Given the description of an element on the screen output the (x, y) to click on. 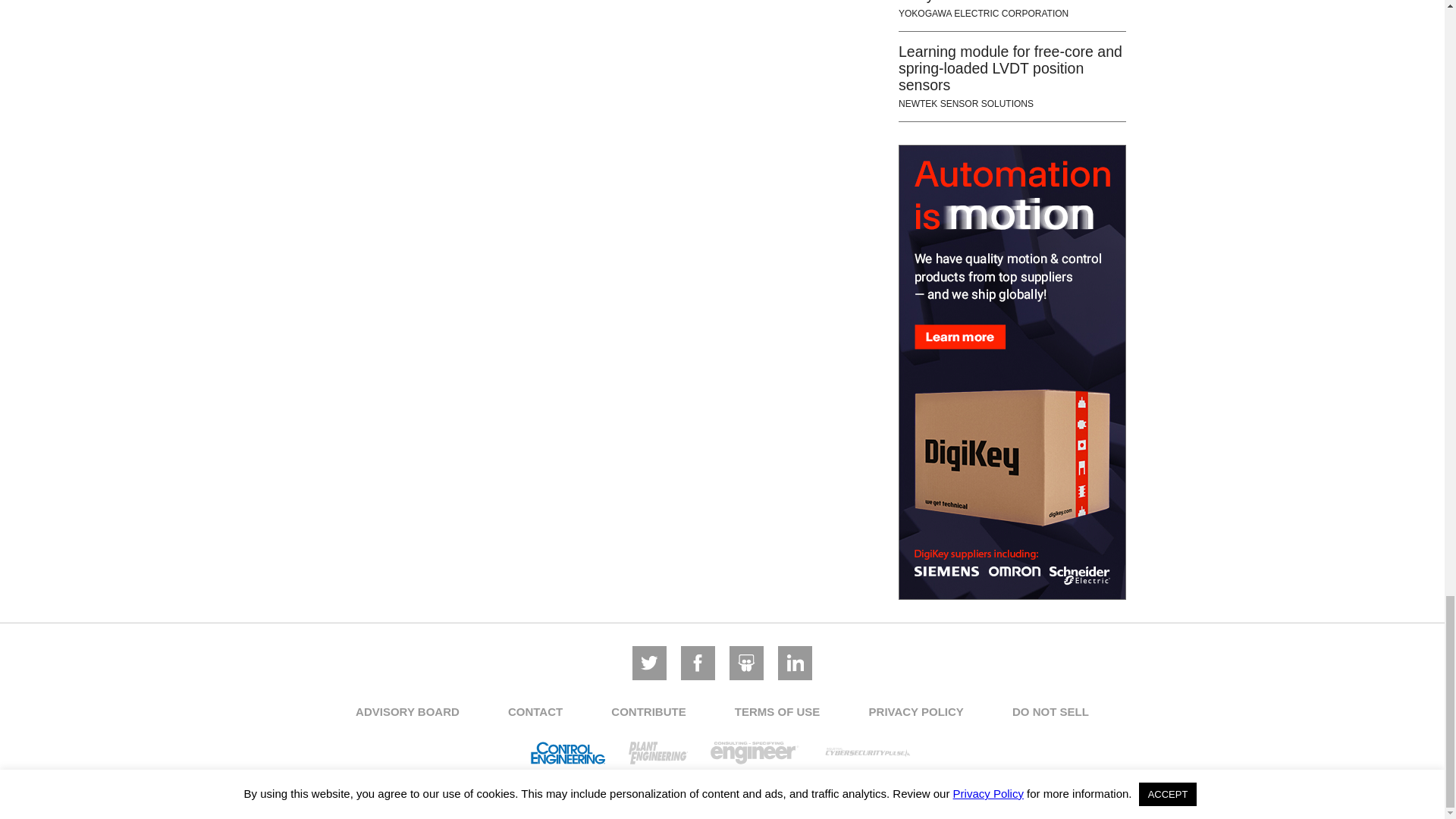
3rd party ad content (1011, 371)
